Given the description of an element on the screen output the (x, y) to click on. 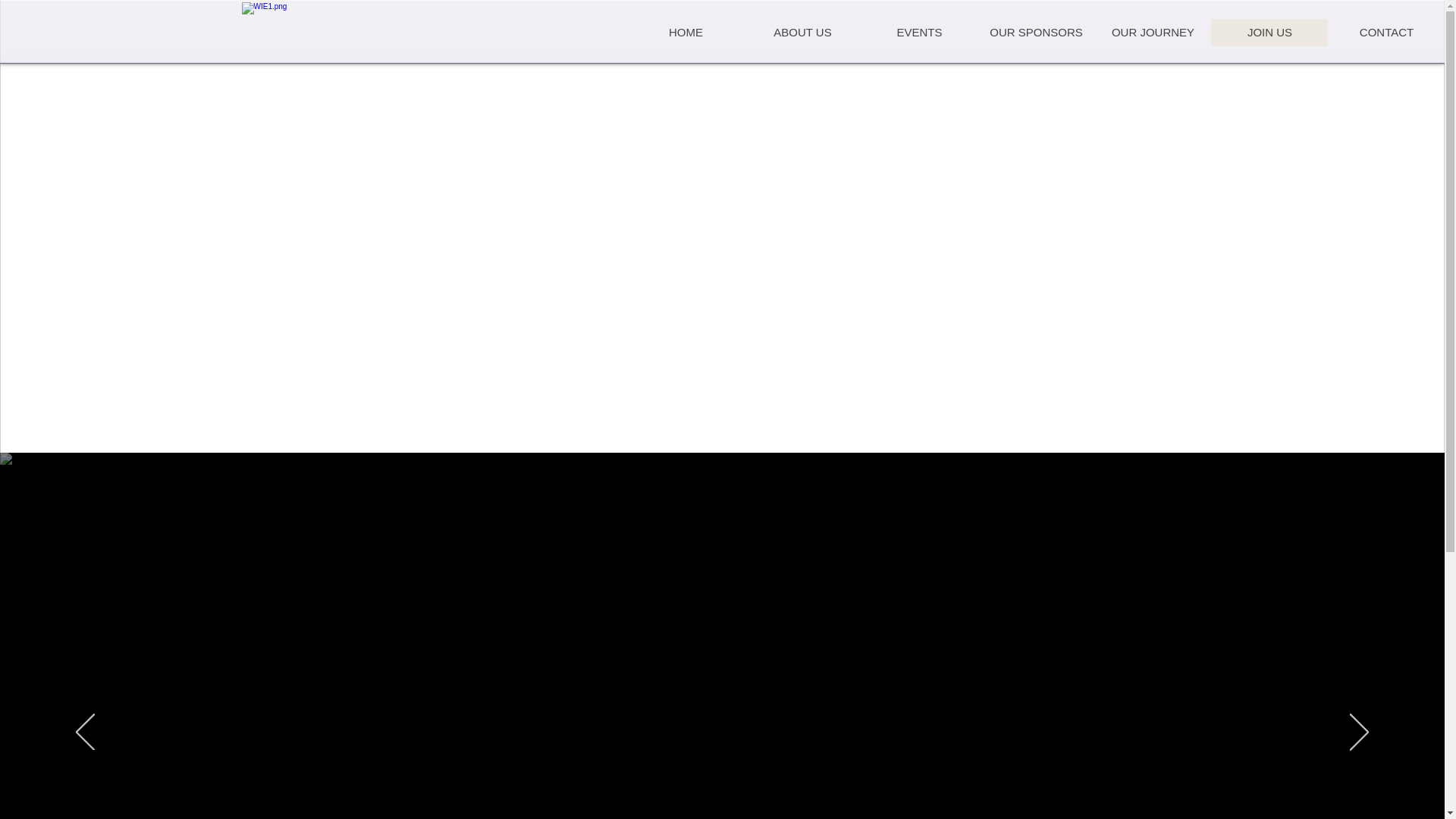
OUR SPONSORS (1035, 31)
OUR JOURNEY (1152, 31)
JOIN US (1269, 31)
HOME (685, 31)
EVENTS (918, 31)
ABOUT US (802, 31)
